Given the description of an element on the screen output the (x, y) to click on. 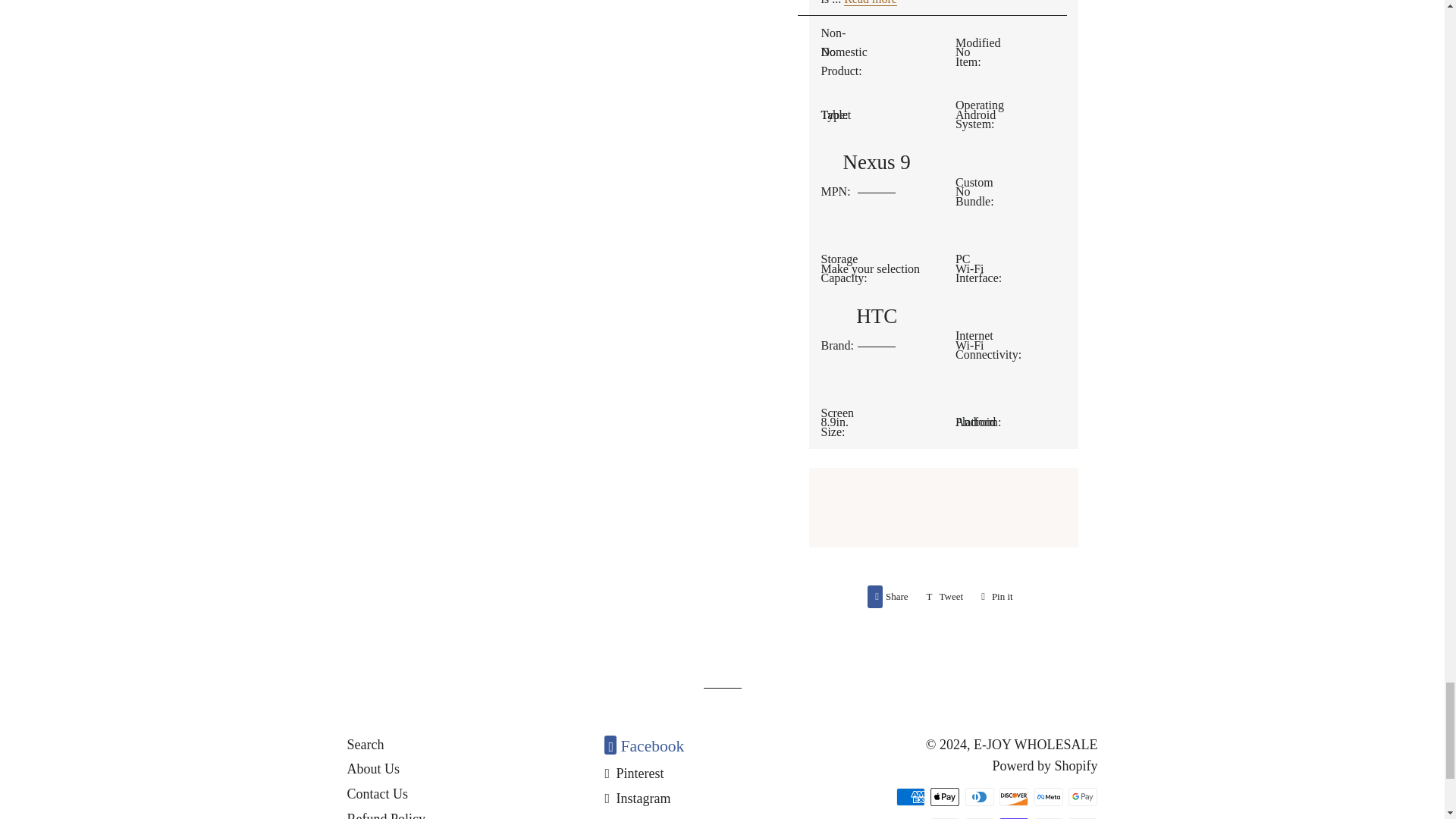
Diners Club (979, 796)
Read more (870, 2)
Pin on Pinterest (997, 596)
E-JOY WHOLESALE on Facebook (644, 746)
Apple Pay (944, 796)
Discover (944, 596)
Shop Pay (1012, 796)
Google Pay (944, 596)
Search (1082, 796)
PayPal (365, 744)
